Given the description of an element on the screen output the (x, y) to click on. 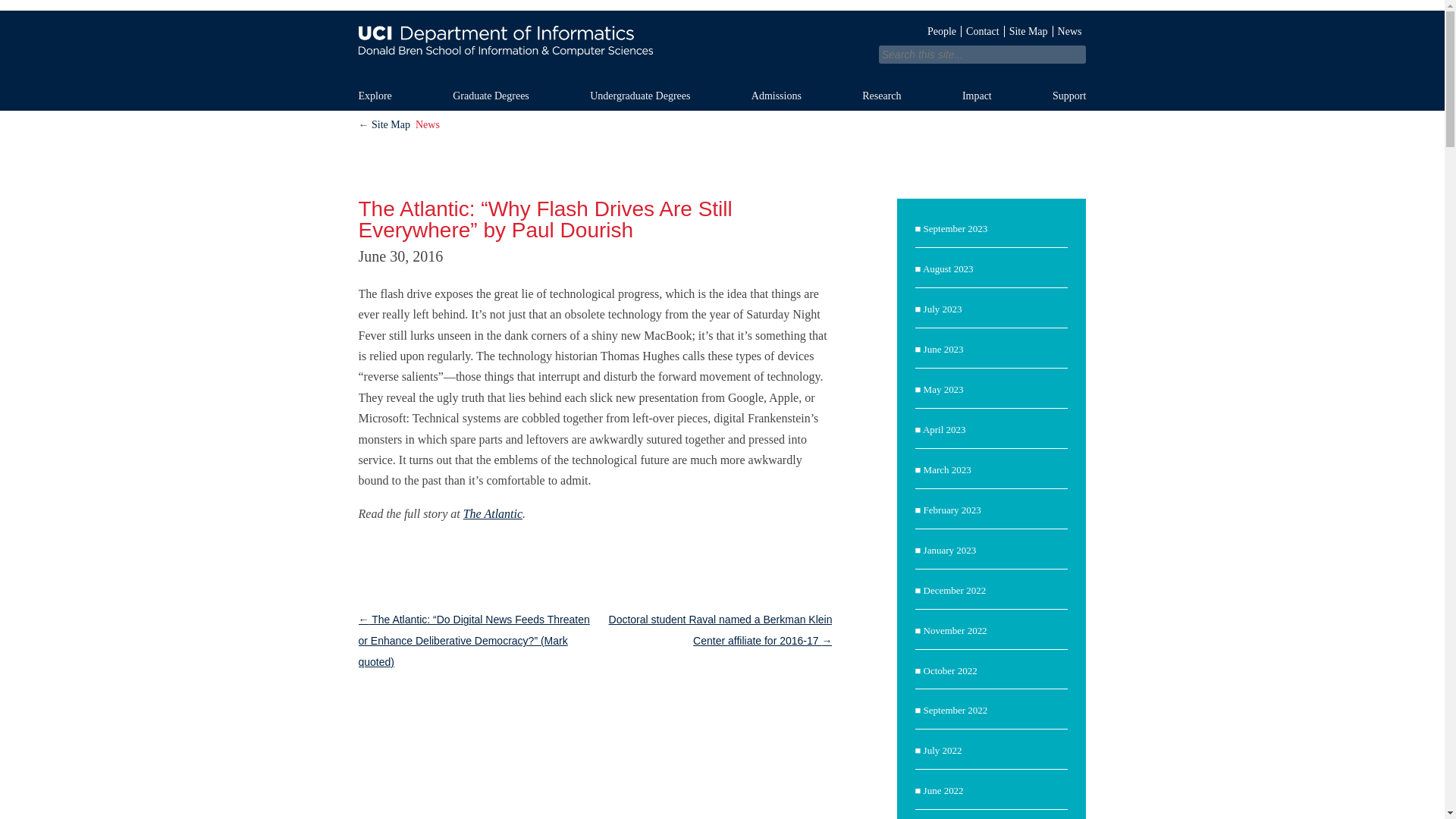
Undergraduate Degrees (656, 95)
Search (353, 10)
Skip to content (754, 86)
Contact (982, 30)
People (941, 30)
Site Map (1028, 30)
Skip to content (754, 86)
News (1069, 30)
Graduate Degrees (507, 95)
Explore (391, 95)
